Given the description of an element on the screen output the (x, y) to click on. 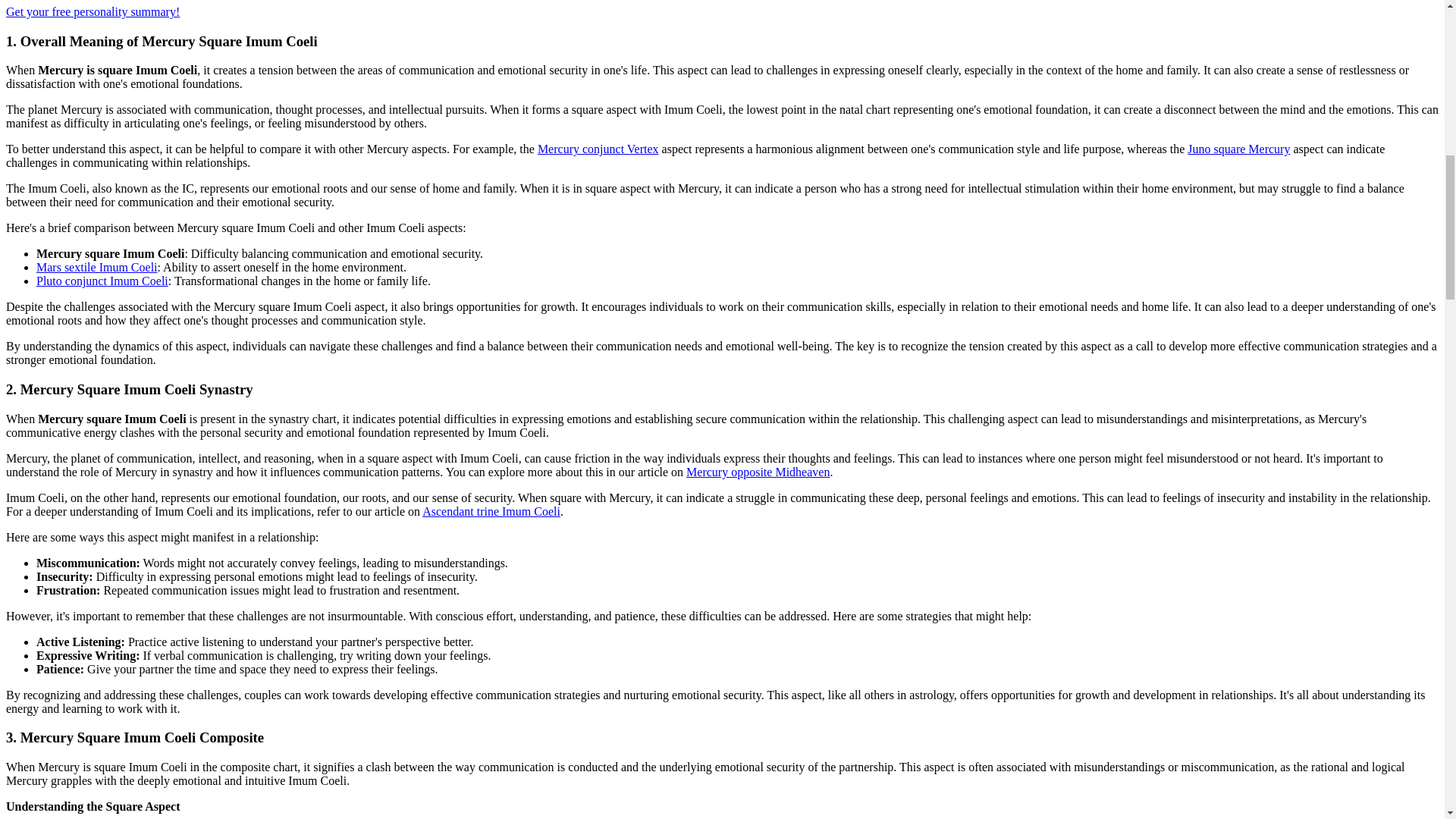
Get your free personality summary! (92, 11)
Pluto conjunct Imum Coeli (102, 280)
Ascendant trine Imum Coeli (491, 511)
Mercury opposite Midheaven (757, 472)
Juno square Mercury (1239, 148)
Mercury conjunct Vertex (598, 148)
Mars sextile Imum Coeli (96, 267)
